Given the description of an element on the screen output the (x, y) to click on. 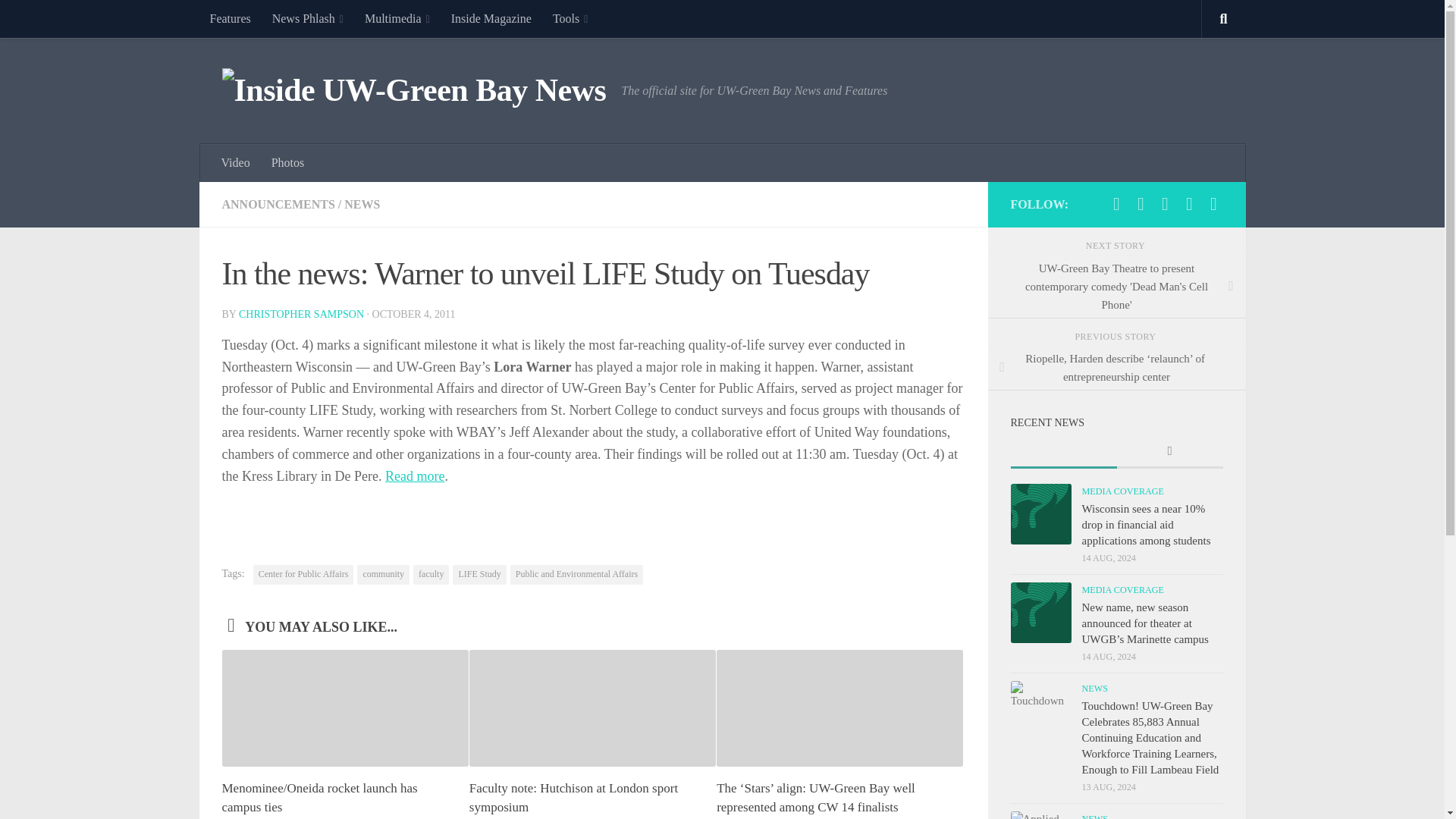
NEWS (361, 204)
Video (235, 162)
Read more (414, 476)
Recent Posts (1063, 451)
Public and Environmental Affairs (577, 574)
faculty (430, 574)
Facebook (1115, 203)
Multimedia (397, 18)
Inside Magazine (491, 18)
LIFE Study (478, 574)
